Given the description of an element on the screen output the (x, y) to click on. 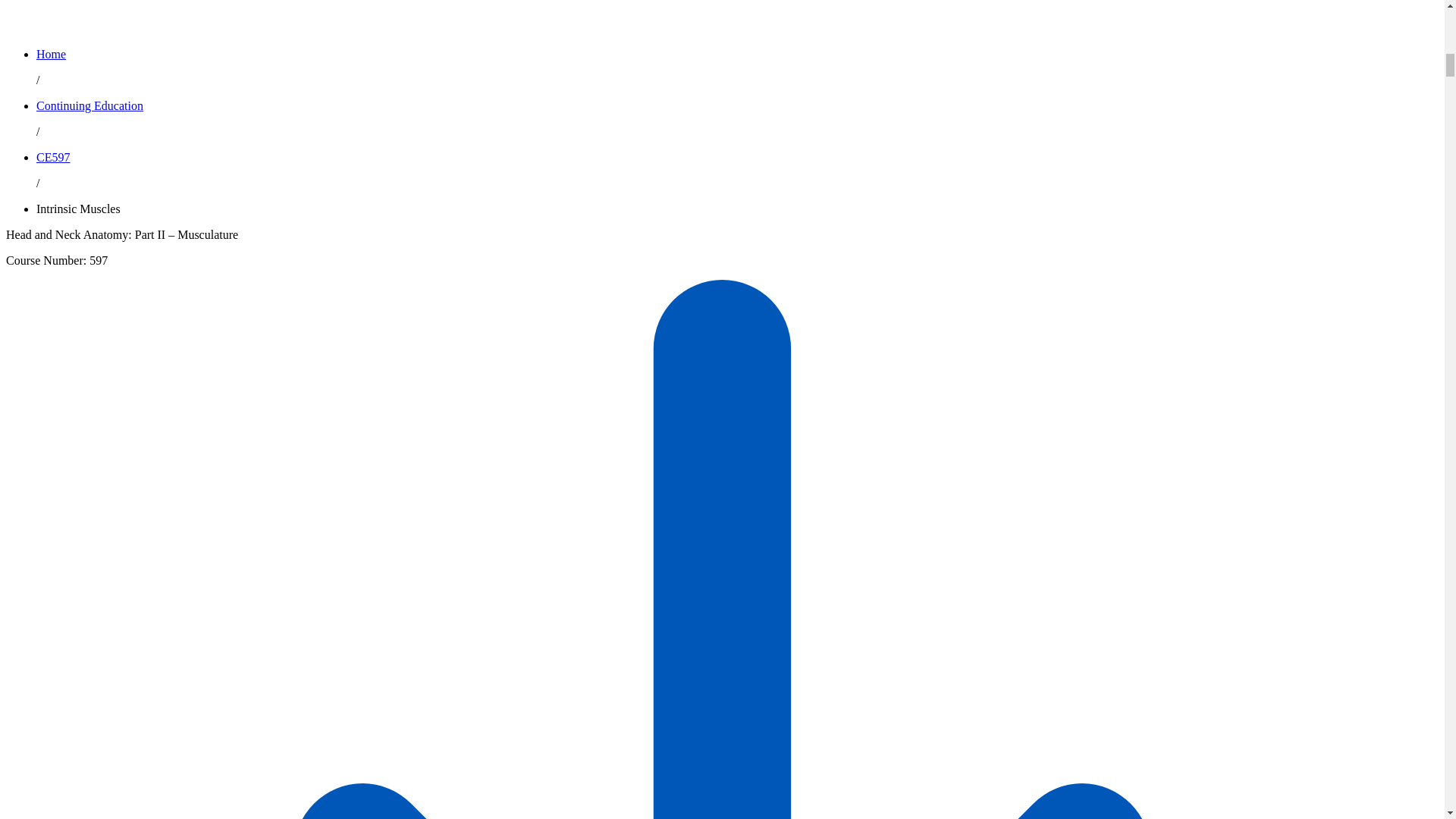
Home (50, 53)
Continuing Education (89, 105)
Home (50, 53)
CE597 (52, 156)
CE597 (52, 156)
Continuing Education (89, 105)
